Given the description of an element on the screen output the (x, y) to click on. 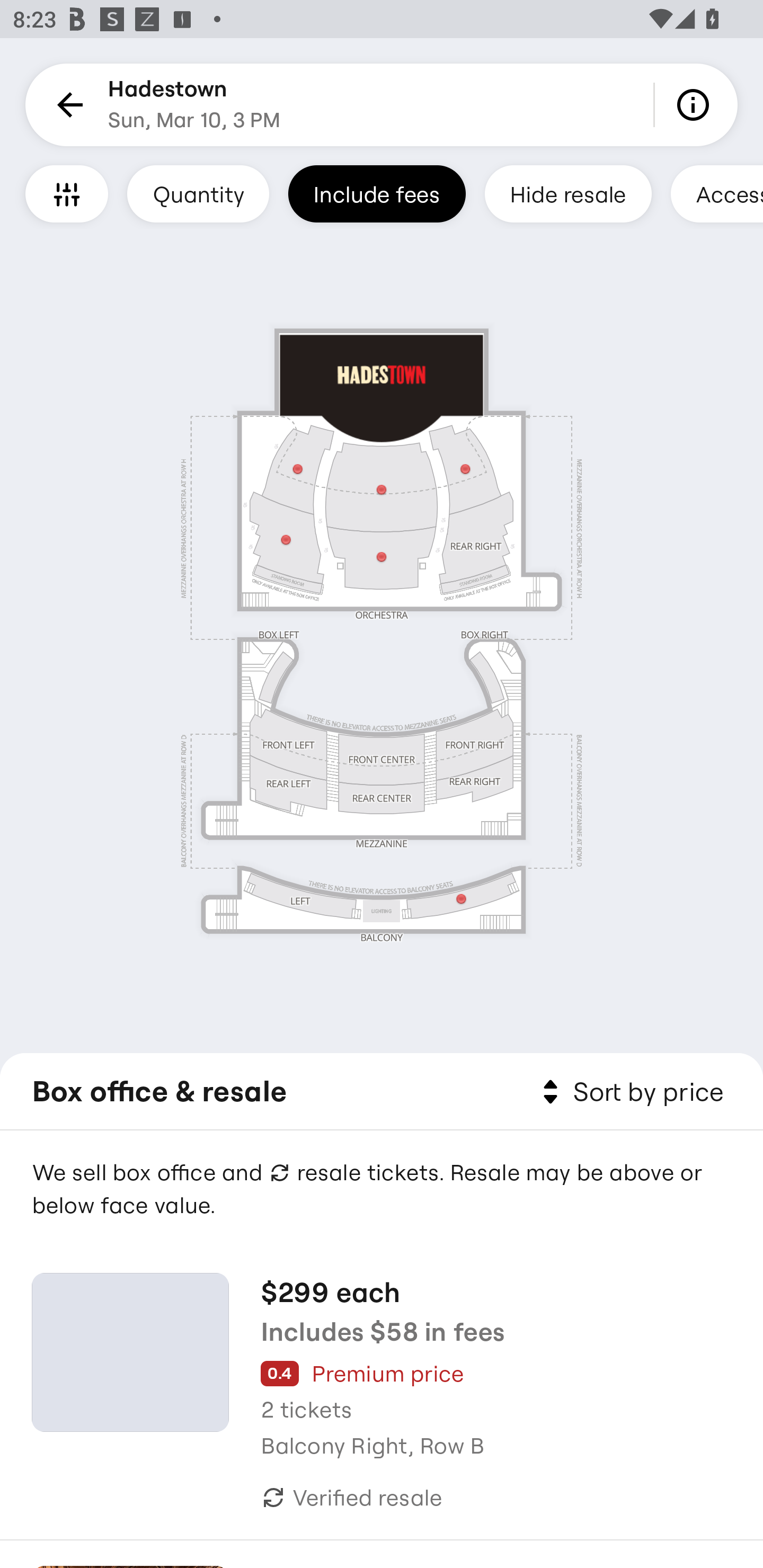
Back (66, 104)
Hadestown Sun, Mar 10, 3 PM (194, 104)
Info (695, 104)
Filters and Accessible Seating (66, 193)
Quantity (198, 193)
Include fees (376, 193)
Hide resale (567, 193)
Sort by price (629, 1091)
